Given the description of an element on the screen output the (x, y) to click on. 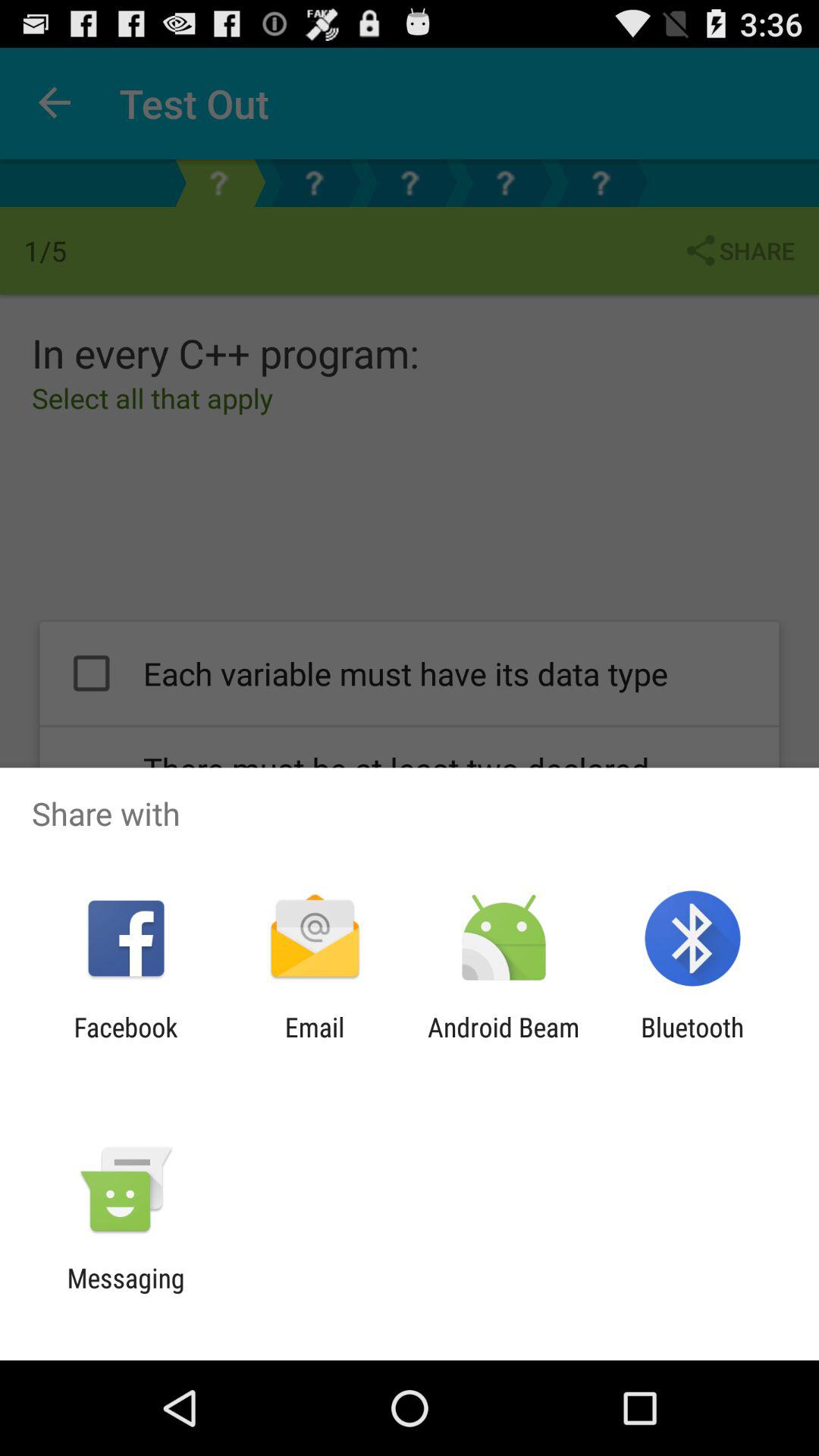
scroll until android beam icon (503, 1042)
